Given the description of an element on the screen output the (x, y) to click on. 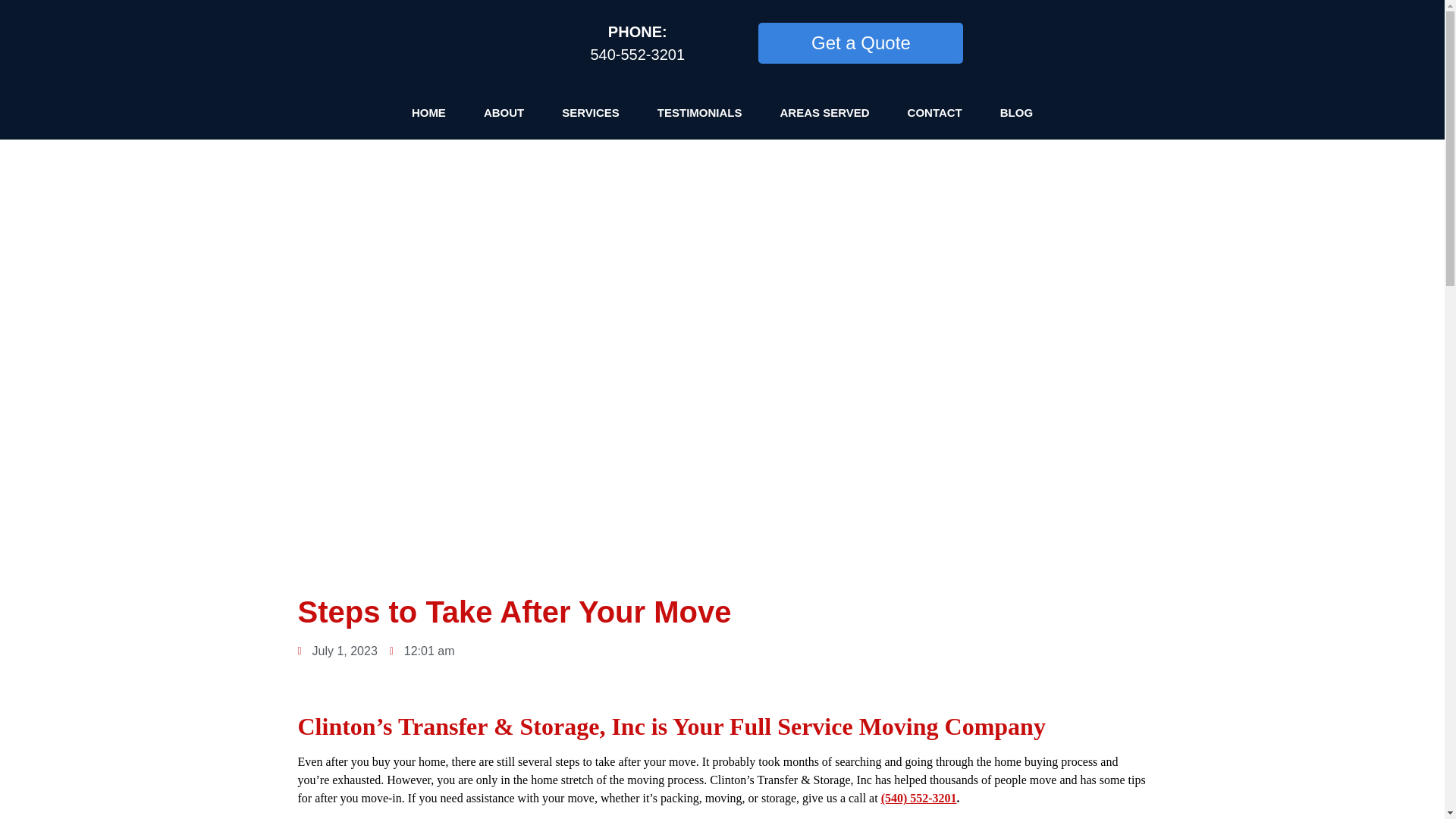
BLOG (1016, 112)
ABOUT (503, 112)
TESTIMONIALS (699, 112)
HOME (428, 112)
540-552-3201 (636, 54)
CONTACT (934, 112)
AREAS SERVED (823, 112)
SERVICES (590, 112)
Get a Quote (860, 42)
